Given the description of an element on the screen output the (x, y) to click on. 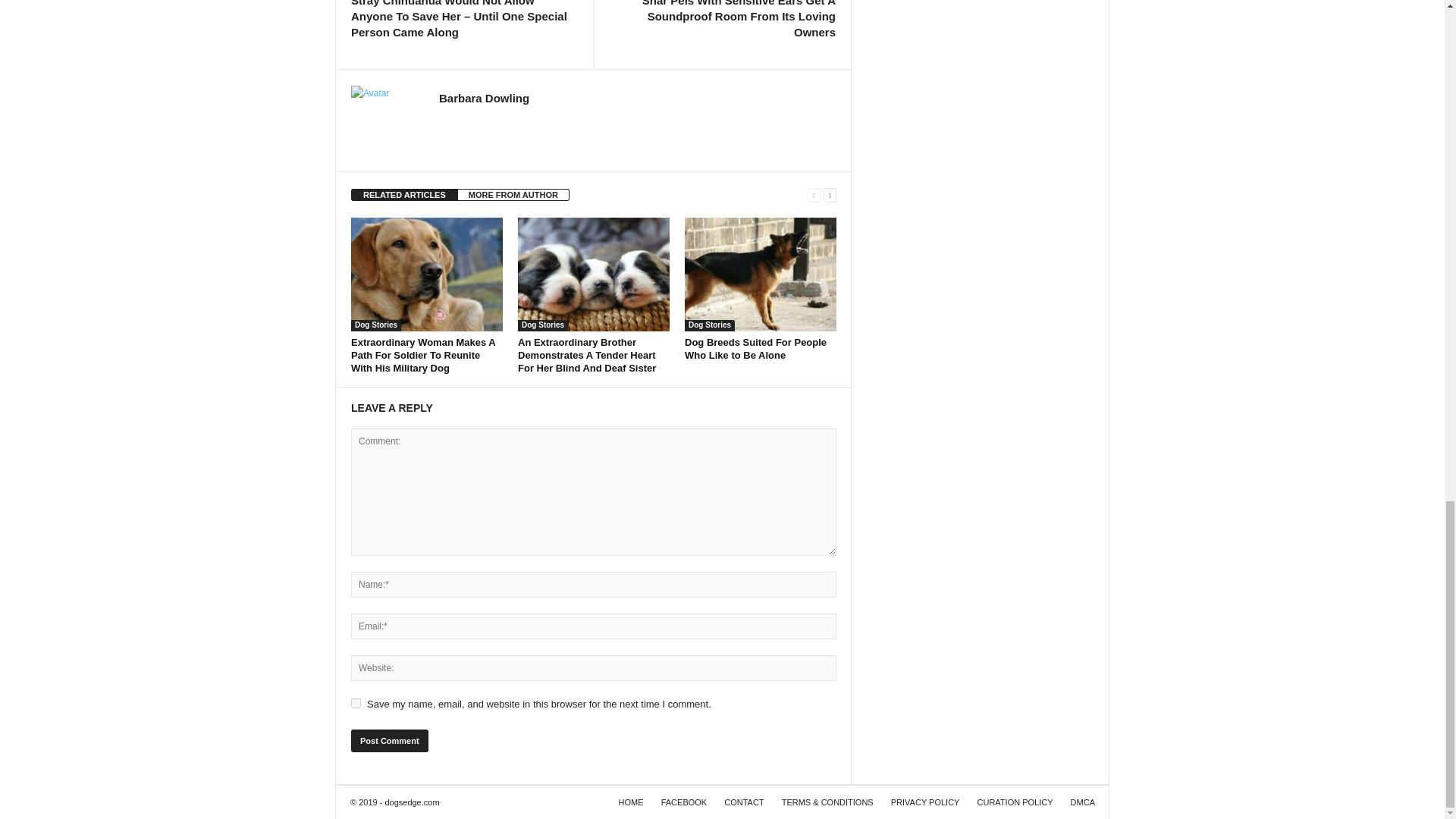
Post Comment (389, 740)
yes (355, 703)
Dog Breeds Suited For People Who Like to Be Alone (755, 348)
Dog Breeds Suited For People Who Like to Be Alone (759, 274)
